Given the description of an element on the screen output the (x, y) to click on. 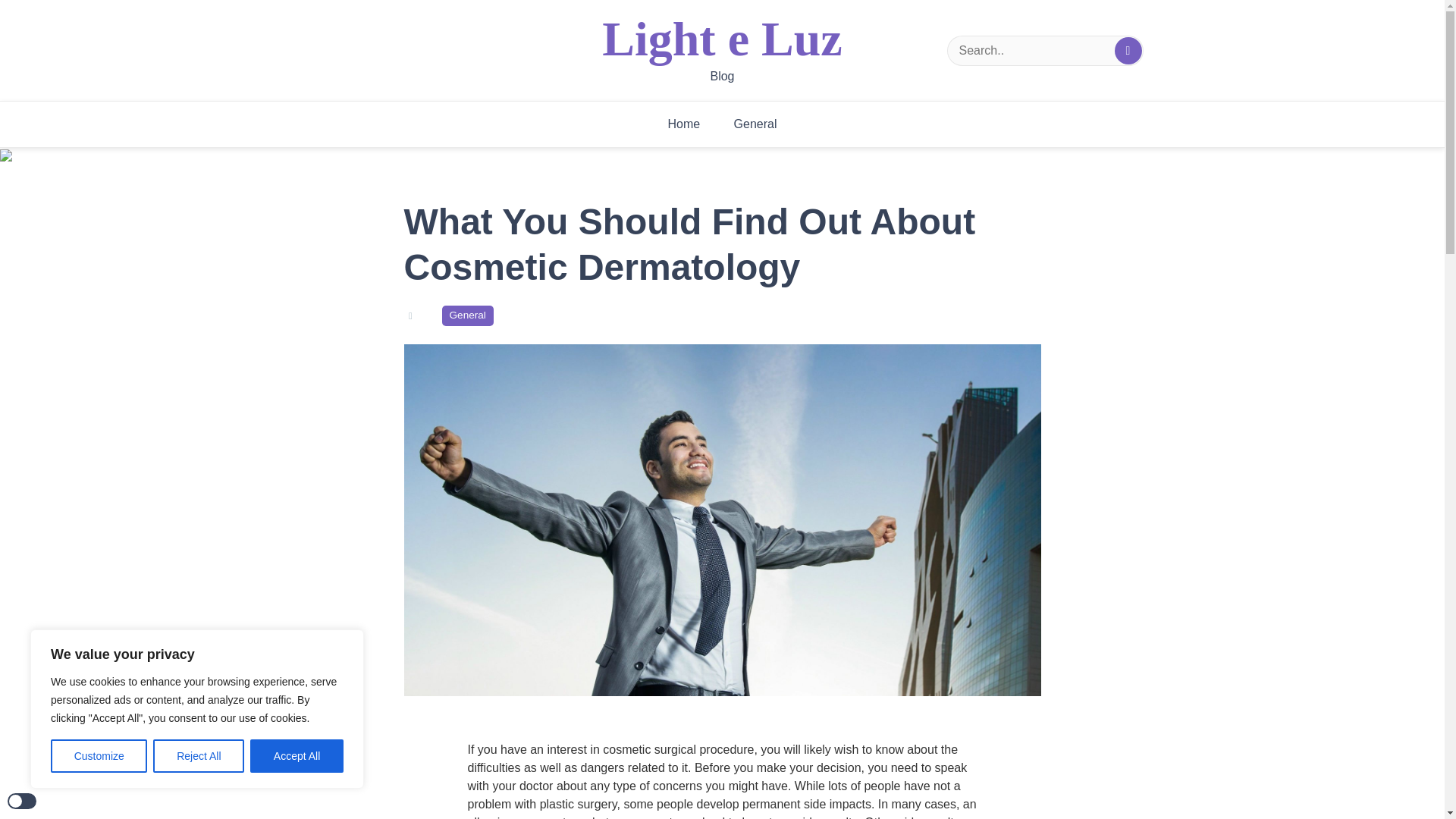
Light e Luz (721, 39)
Accept All (296, 756)
General (467, 315)
General (755, 123)
Customize (98, 756)
Reject All (198, 756)
Home (683, 123)
